Given the description of an element on the screen output the (x, y) to click on. 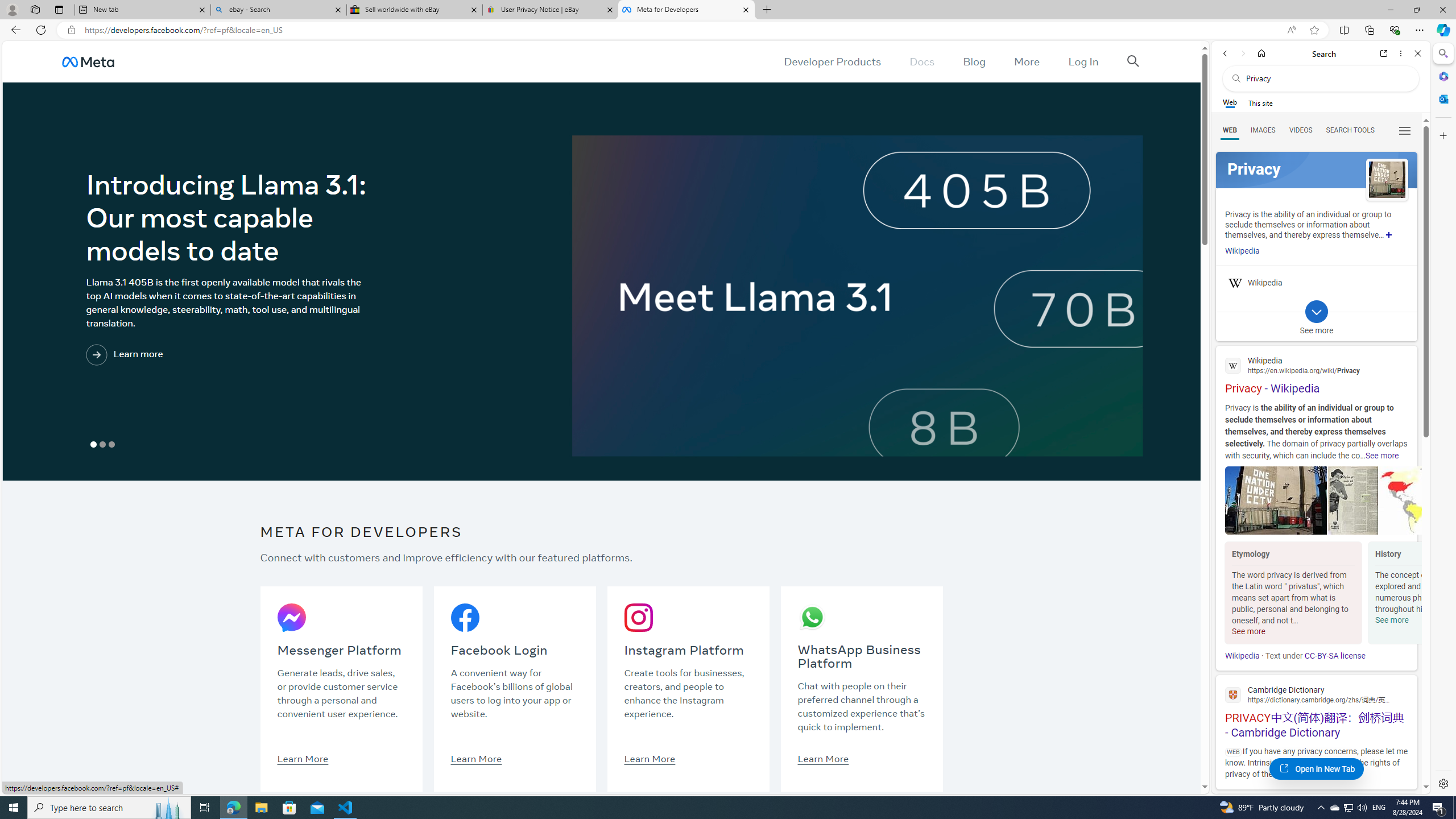
Show Slide 2 (102, 444)
Log In (1083, 61)
Log In (1083, 61)
Search Filter, WEB (1230, 129)
SEARCH TOOLS (1350, 130)
User Privacy Notice | eBay (550, 9)
Forward (1242, 53)
Developer Products (832, 61)
